Given the description of an element on the screen output the (x, y) to click on. 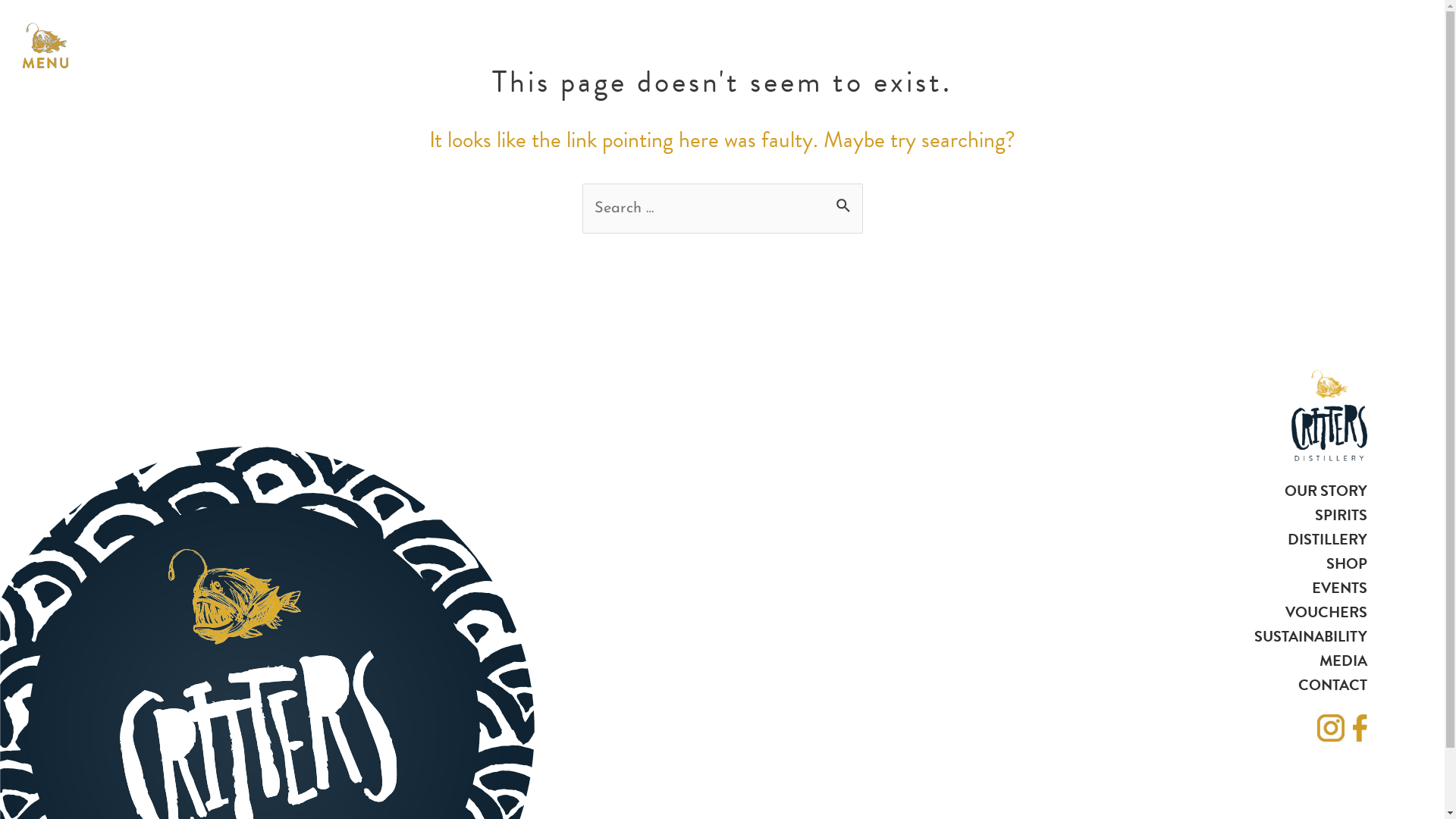
SUSTAINABILITY Element type: text (1310, 636)
CONTACT Element type: text (1332, 684)
Critters Distillery on Instagram Element type: hover (1329, 727)
EVENTS Element type: text (1339, 587)
MEDIA Element type: text (1342, 660)
SHOP Element type: text (1345, 563)
VOUCHERS Element type: text (1325, 611)
Critters Distillery on Facebook Element type: hover (1363, 727)
Search Element type: text (845, 200)
OUR STORY Element type: text (1325, 490)
DISTILLERY Element type: text (1327, 539)
SPIRITS Element type: text (1340, 514)
